Given the description of an element on the screen output the (x, y) to click on. 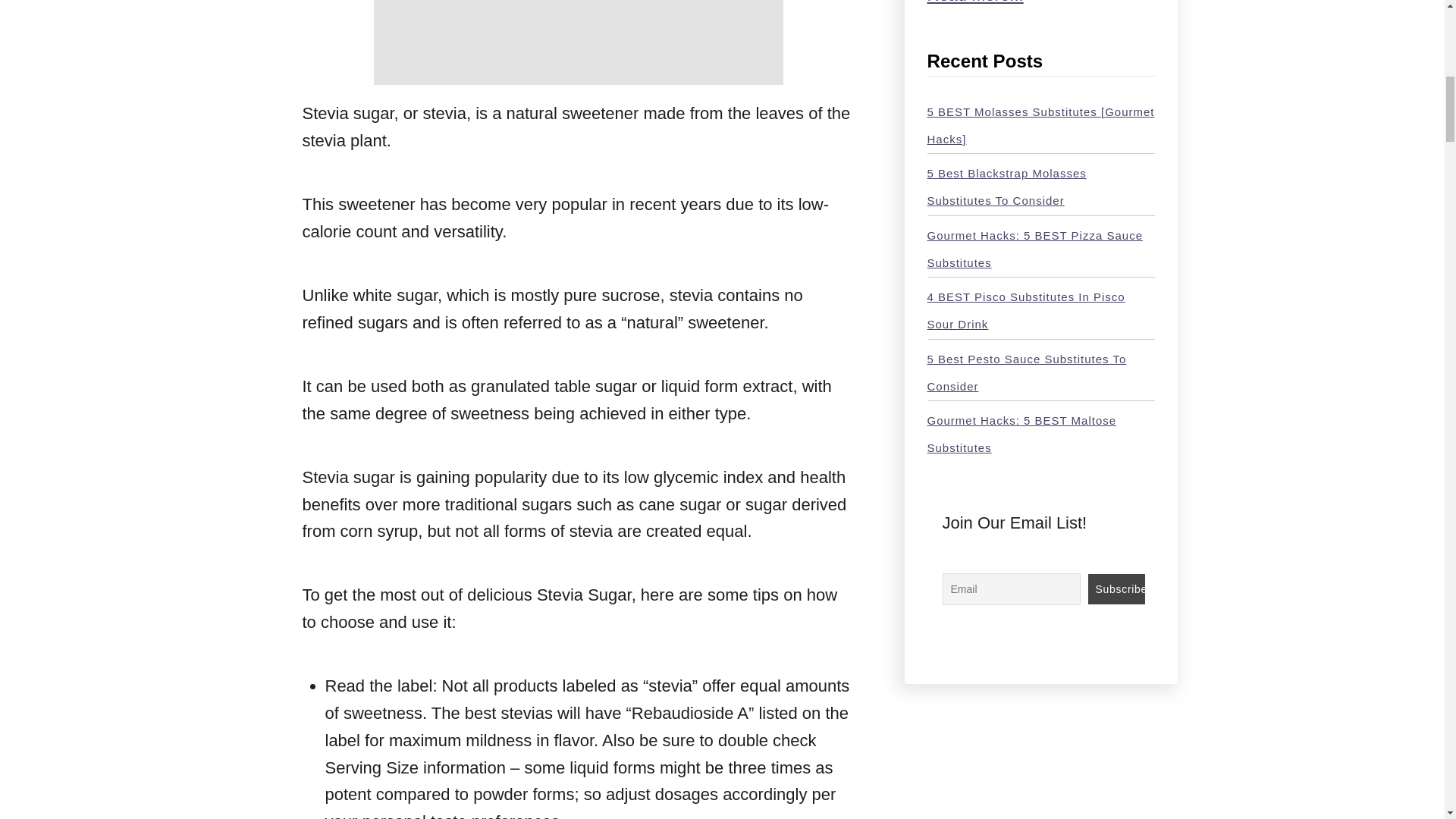
5 Best Blackstrap Molasses Substitutes to Consider (1006, 187)
Subscribe (1115, 589)
